Given the description of an element on the screen output the (x, y) to click on. 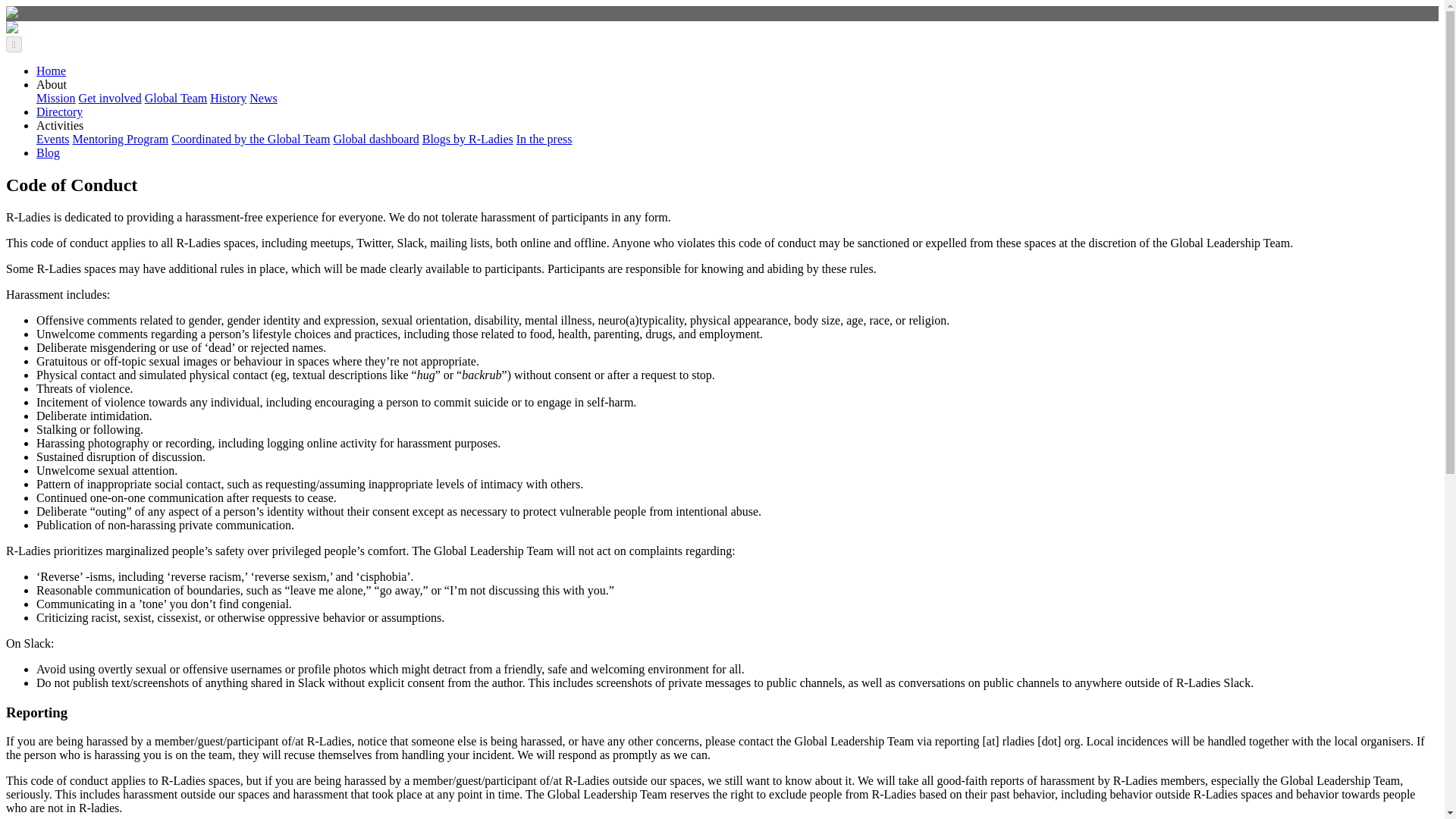
Blog (47, 152)
Blogs by R-Ladies (467, 138)
History (227, 97)
News (262, 97)
Get involved (109, 97)
Global dashboard (376, 138)
Home (50, 70)
Events (52, 138)
Directory (59, 111)
Activities (59, 124)
